Given the description of an element on the screen output the (x, y) to click on. 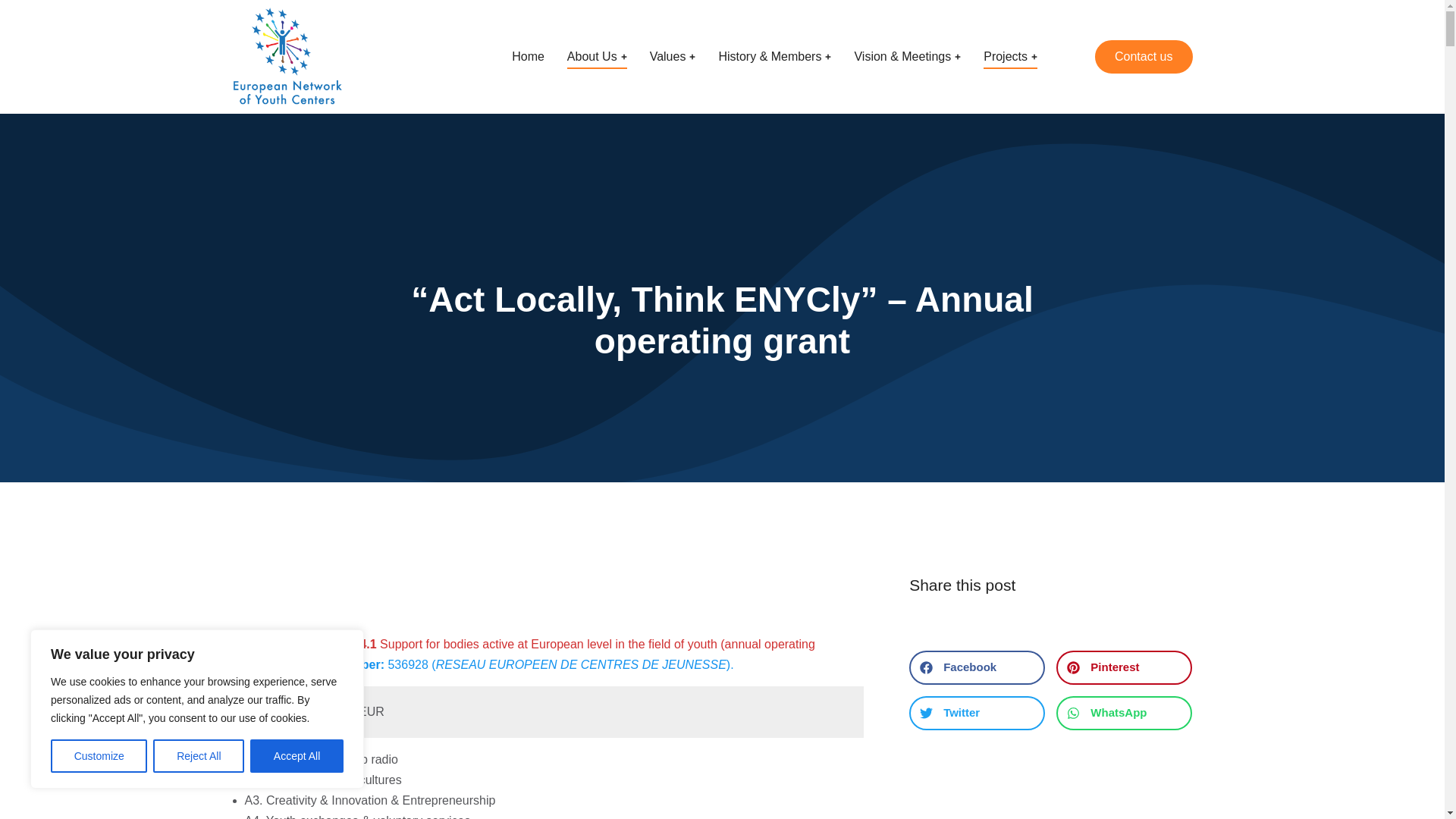
About Us (597, 57)
Customize (98, 756)
Home (528, 57)
Accept All (296, 756)
Values (672, 57)
Reject All (198, 756)
